Given the description of an element on the screen output the (x, y) to click on. 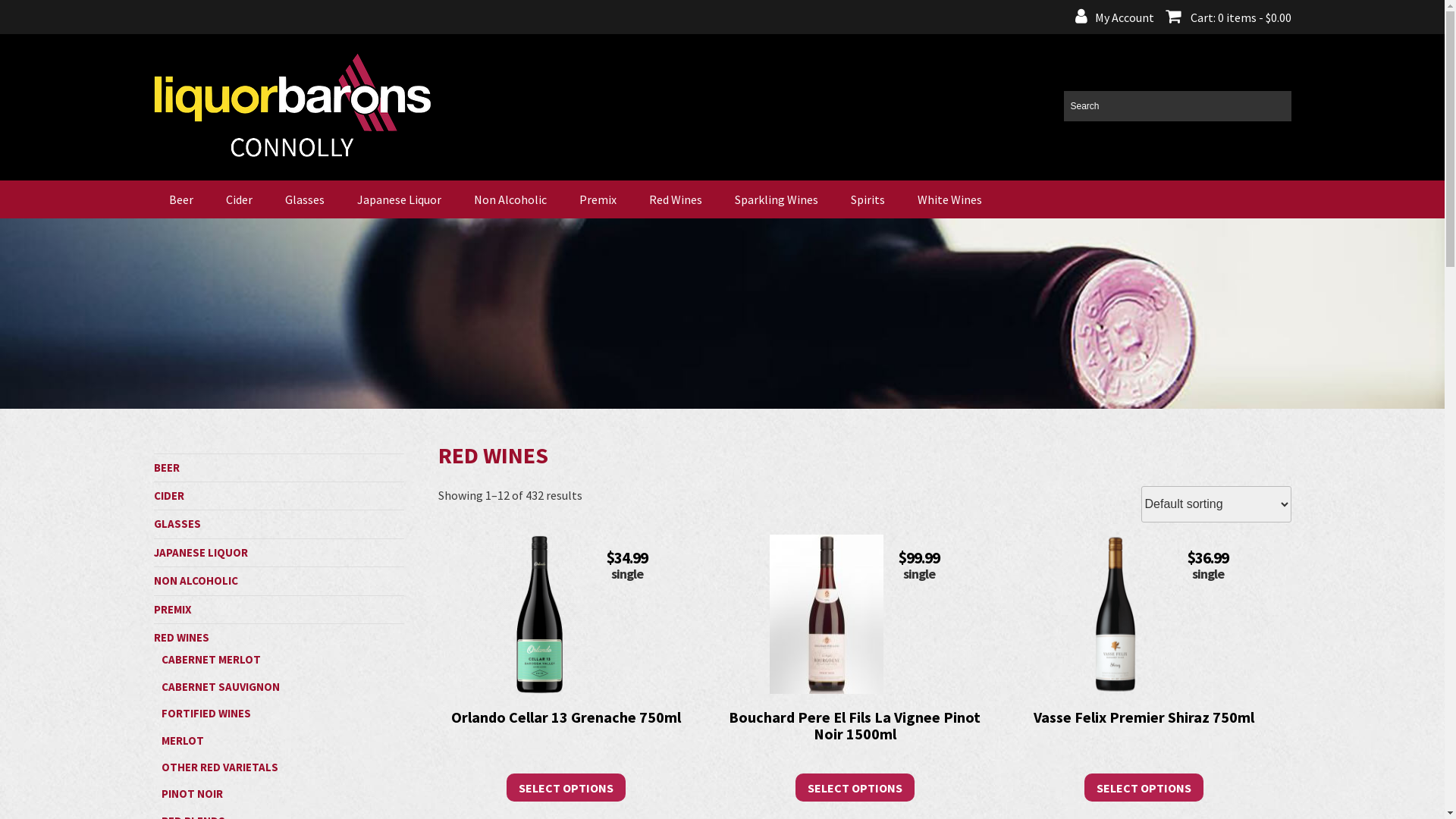
$34.99
single
Orlando Cellar 13 Grenache 750ml Element type: text (566, 664)
CABERNET MERLOT Element type: text (210, 659)
Premix Element type: text (597, 199)
SELECT OPTIONS Element type: text (1143, 787)
White Wines Element type: text (949, 199)
PREMIX Element type: text (172, 609)
Cart: 0 items - $0.00 Element type: text (1222, 17)
CABERNET SAUVIGNON Element type: text (219, 686)
Glasses Element type: text (304, 199)
FORTIFIED WINES Element type: text (205, 713)
Beer Element type: text (180, 199)
CIDER Element type: text (168, 495)
SELECT OPTIONS Element type: text (854, 787)
Non Alcoholic Element type: text (509, 199)
NON ALCOHOLIC Element type: text (195, 580)
MERLOT Element type: text (181, 740)
GLASSES Element type: text (176, 523)
RED WINES Element type: text (180, 637)
Cider Element type: text (238, 199)
$36.99
single
Vasse Felix Premier Shiraz 750ml Element type: text (1143, 664)
SELECT OPTIONS Element type: text (565, 787)
My Account Element type: text (1114, 17)
JAPANESE LIQUOR Element type: text (200, 552)
Red Wines Element type: text (675, 199)
PINOT NOIR Element type: text (191, 793)
Sparkling Wines Element type: text (775, 199)
BEER Element type: text (165, 467)
Spirits Element type: text (867, 199)
Japanese Liquor Element type: text (398, 199)
OTHER RED VARIETALS Element type: text (218, 766)
